Given the description of an element on the screen output the (x, y) to click on. 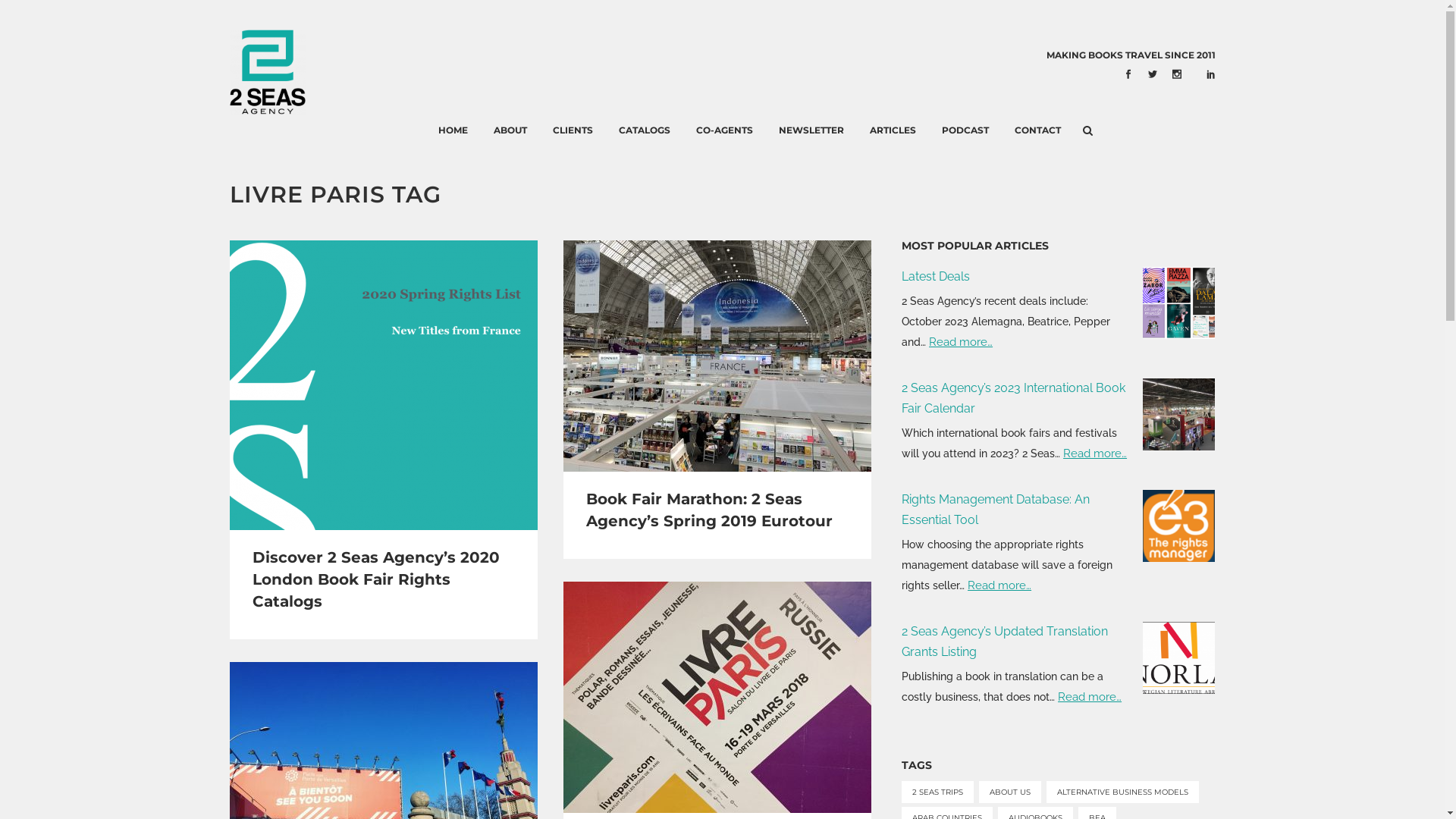
CATALOGS Element type: text (644, 130)
ABOUT Element type: text (509, 130)
CLIENTS Element type: text (572, 130)
2 SEAS TRIPS Element type: text (937, 792)
CONTACT Element type: text (1037, 130)
Search Element type: text (1173, 47)
NEWSLETTER Element type: text (810, 130)
Latest Deals Element type: text (935, 276)
ABOUT US Element type: text (1010, 792)
HOME Element type: text (452, 130)
CO-AGENTS Element type: text (724, 130)
PODCAST Element type: text (964, 130)
ARTICLES Element type: text (892, 130)
Rights Management Database: An Essential Tool Element type: text (995, 509)
ALTERNATIVE BUSINESS MODELS Element type: text (1122, 792)
